Given the description of an element on the screen output the (x, y) to click on. 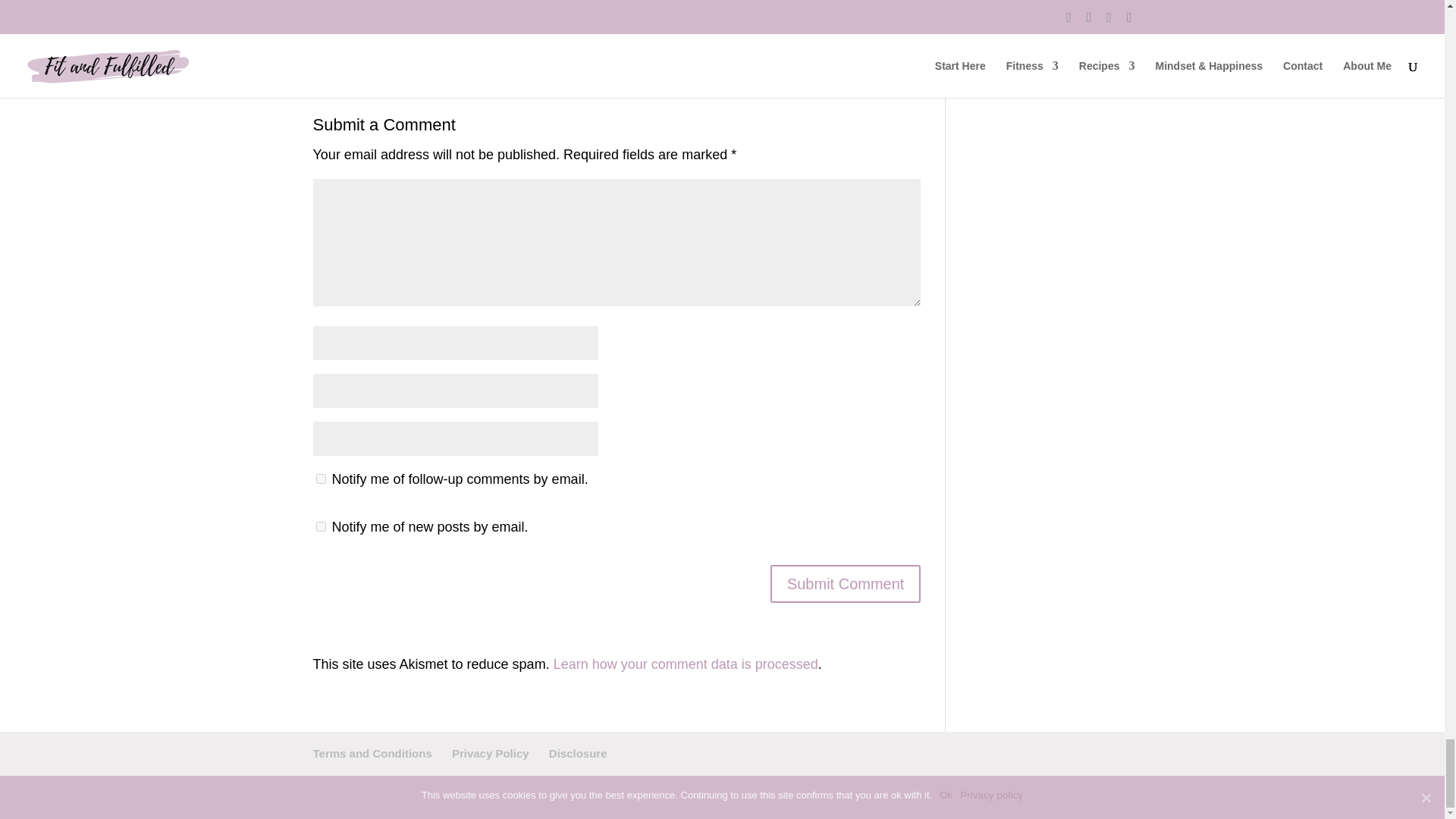
subscribe (319, 526)
subscribe (319, 479)
Submit Comment (845, 583)
